Given the description of an element on the screen output the (x, y) to click on. 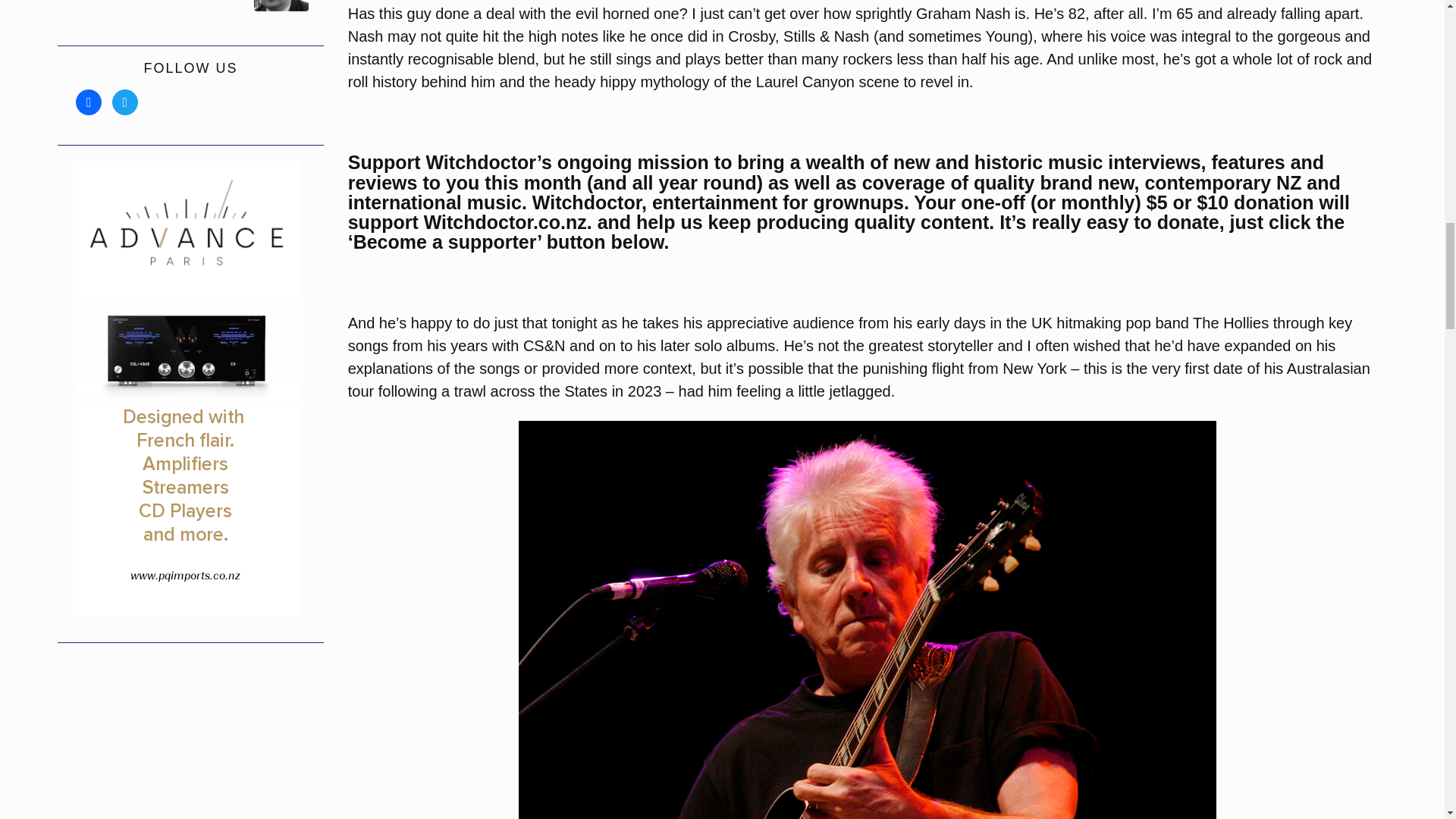
Facebook (88, 102)
Matthew Kelly (280, 5)
Pat Pilcher (160, 5)
X (125, 102)
Gary Steel (100, 5)
AshK (220, 5)
